Given the description of an element on the screen output the (x, y) to click on. 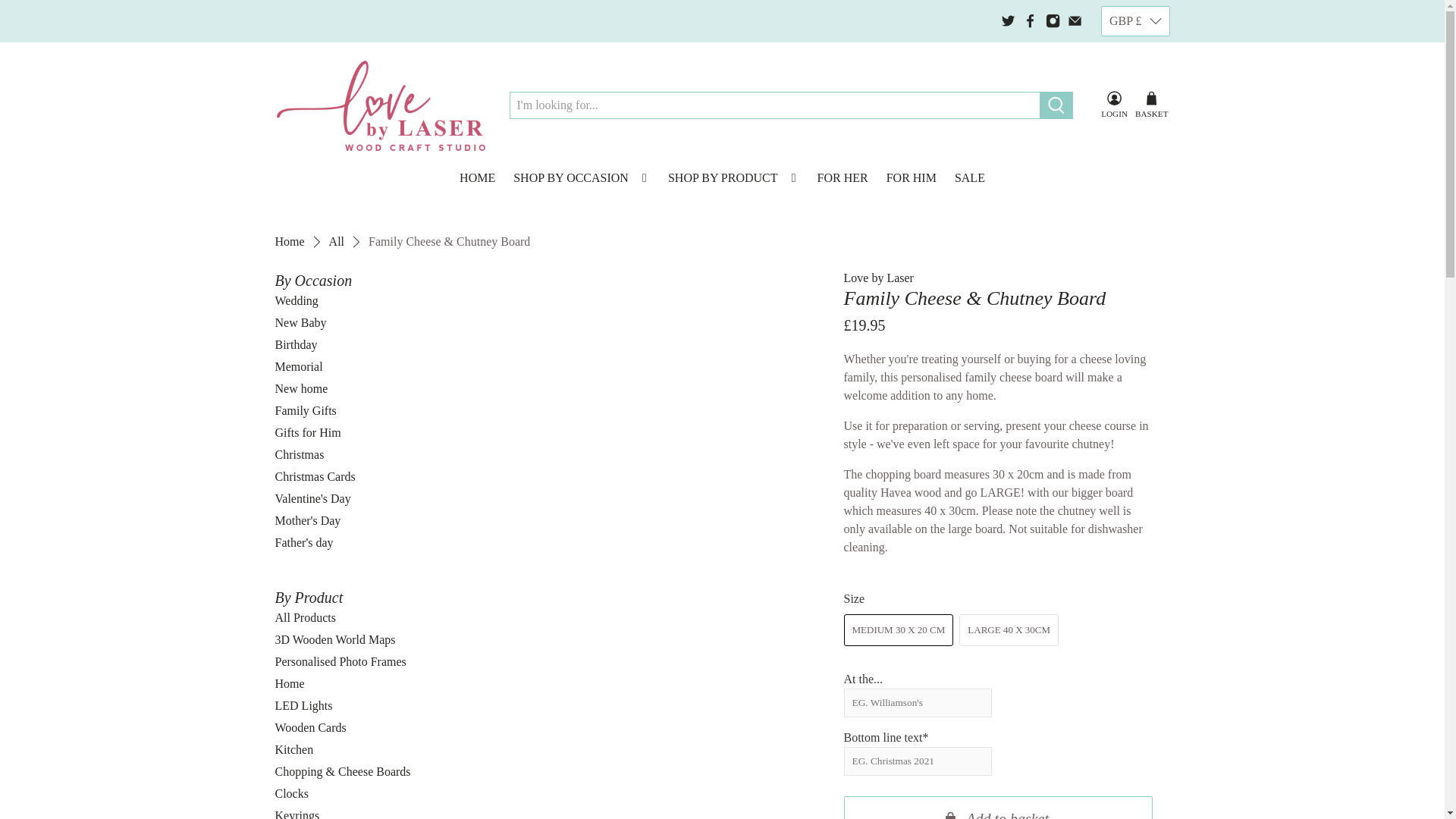
EUR (1135, 114)
New Baby (300, 322)
USD (1135, 258)
Wedding (296, 300)
CZK (1135, 86)
HOME (476, 178)
HUF (1135, 172)
Love by Laser on Twitter (1007, 20)
Birthday (296, 344)
SHOP BY OCCASION (581, 178)
Love by Laser (289, 241)
New home (301, 388)
Memorial (298, 366)
RON (1135, 230)
Christmas Cards (315, 476)
